Given the description of an element on the screen output the (x, y) to click on. 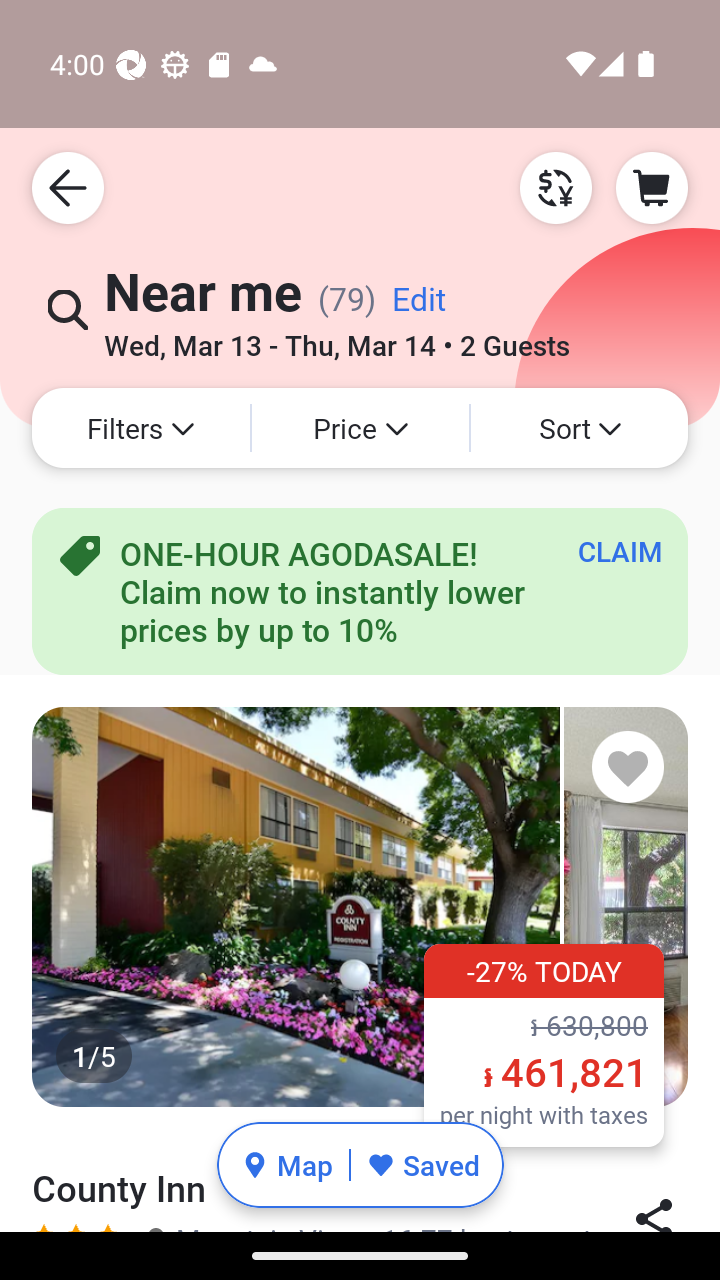
Wed, Mar 13 - Thu, Mar 14 • 2 Guests (336, 338)
Filters (140, 428)
Price (359, 428)
Sort (579, 428)
CLAIM (620, 551)
1/5 (359, 906)
Map Saved (359, 1165)
